Given the description of an element on the screen output the (x, y) to click on. 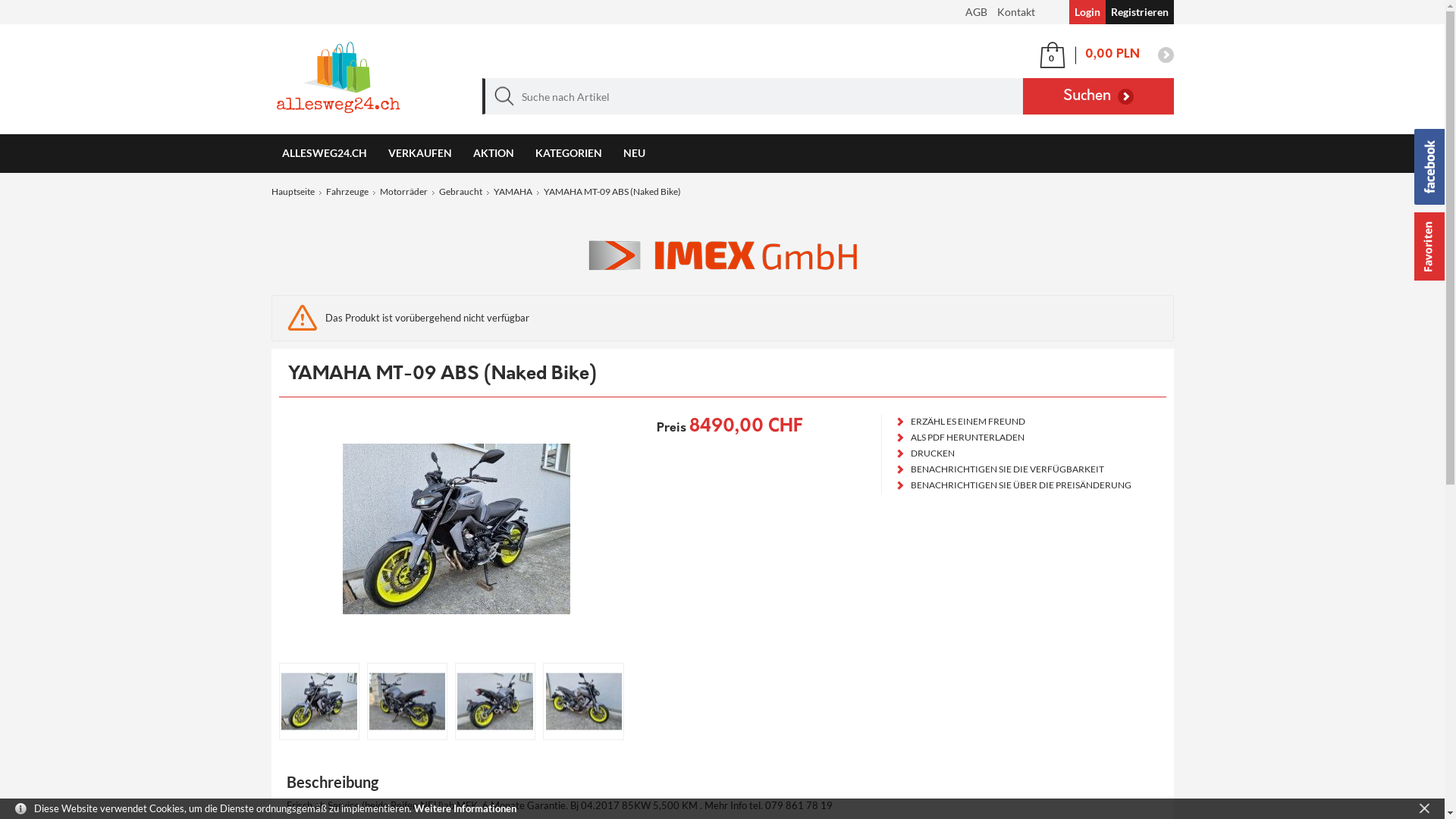
ALLESWEG24.CH Element type: text (324, 152)
YAMAHA Element type: text (511, 191)
0 Element type: text (1052, 54)
VERKAUFEN Element type: text (419, 152)
DRUCKEN Element type: text (1013, 453)
Registrieren Element type: text (1139, 12)
YAMAHA MT-09 ABS (Naked Bike) Element type: hover (403, 701)
Login Element type: text (1087, 12)
Gebraucht Element type: text (459, 191)
0,00 PLN Element type: text (1124, 54)
Hauptseite Element type: text (292, 191)
YAMAHA MT-09 ABS (Naked Bike) Element type: hover (315, 701)
Weitere Informationen Element type: text (465, 808)
YAMAHA MT-09 ABS (Naked Bike) Element type: hover (579, 701)
Suchen Element type: text (1097, 96)
AGB Element type: text (975, 11)
KATEGORIEN Element type: text (568, 152)
Kontakt Element type: text (1015, 11)
YAMAHA MT-09 ABS (Naked Bike) Element type: hover (491, 701)
ALS PDF HERUNTERLADEN Element type: text (1013, 437)
AKTION Element type: text (493, 152)
Fahrzeuge Element type: text (347, 191)
